Given the description of an element on the screen output the (x, y) to click on. 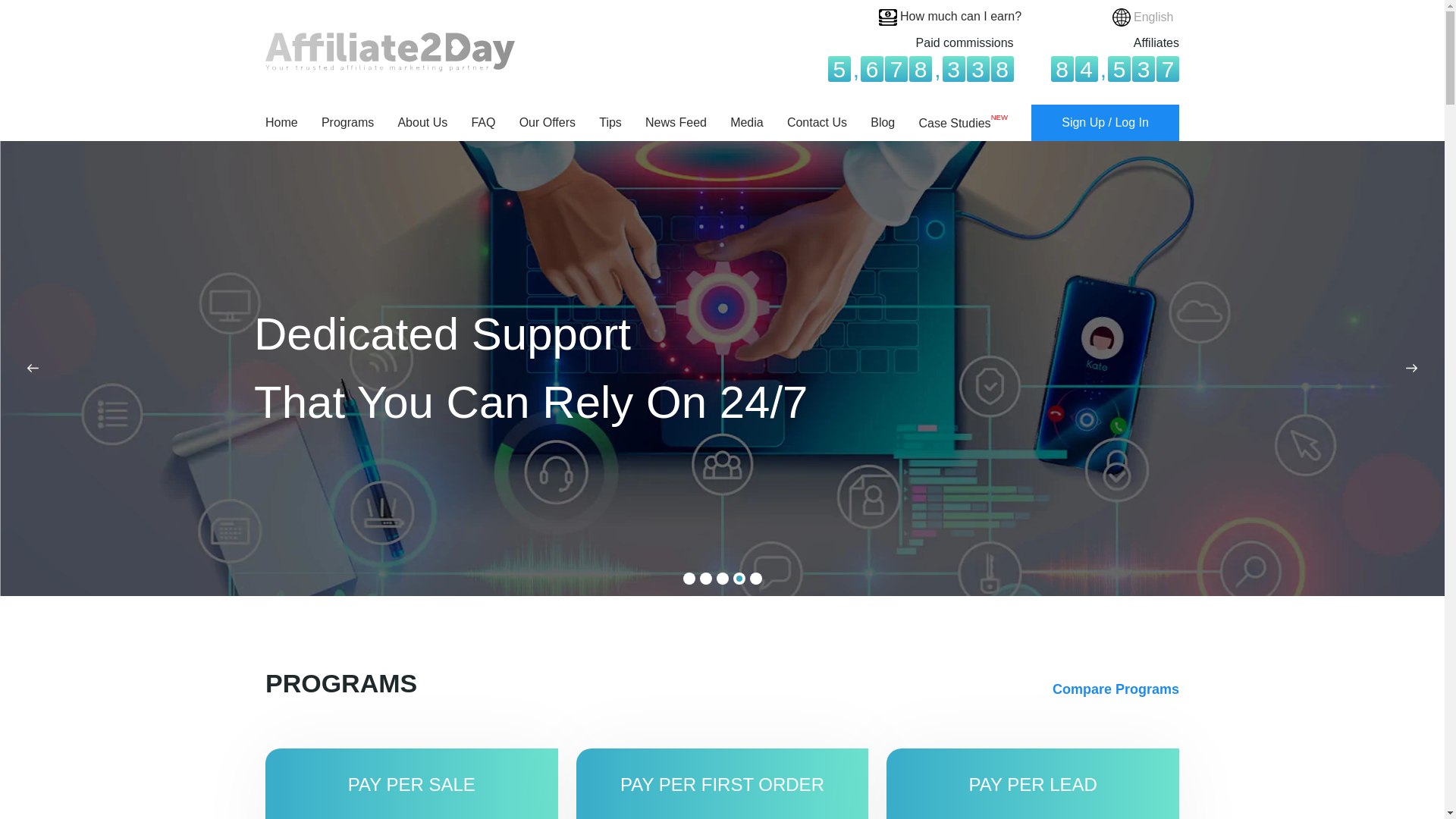
Media (746, 122)
Tips (609, 122)
3 (722, 578)
2 (704, 578)
Contact Us (817, 122)
1 (688, 578)
5 (755, 578)
Previous (31, 367)
Sign Up (1083, 122)
News Feed (675, 122)
About Us (421, 122)
Our Offers (547, 122)
Case StudiesNEW (962, 123)
4 (738, 578)
Affiliate2Day (389, 51)
